Given the description of an element on the screen output the (x, y) to click on. 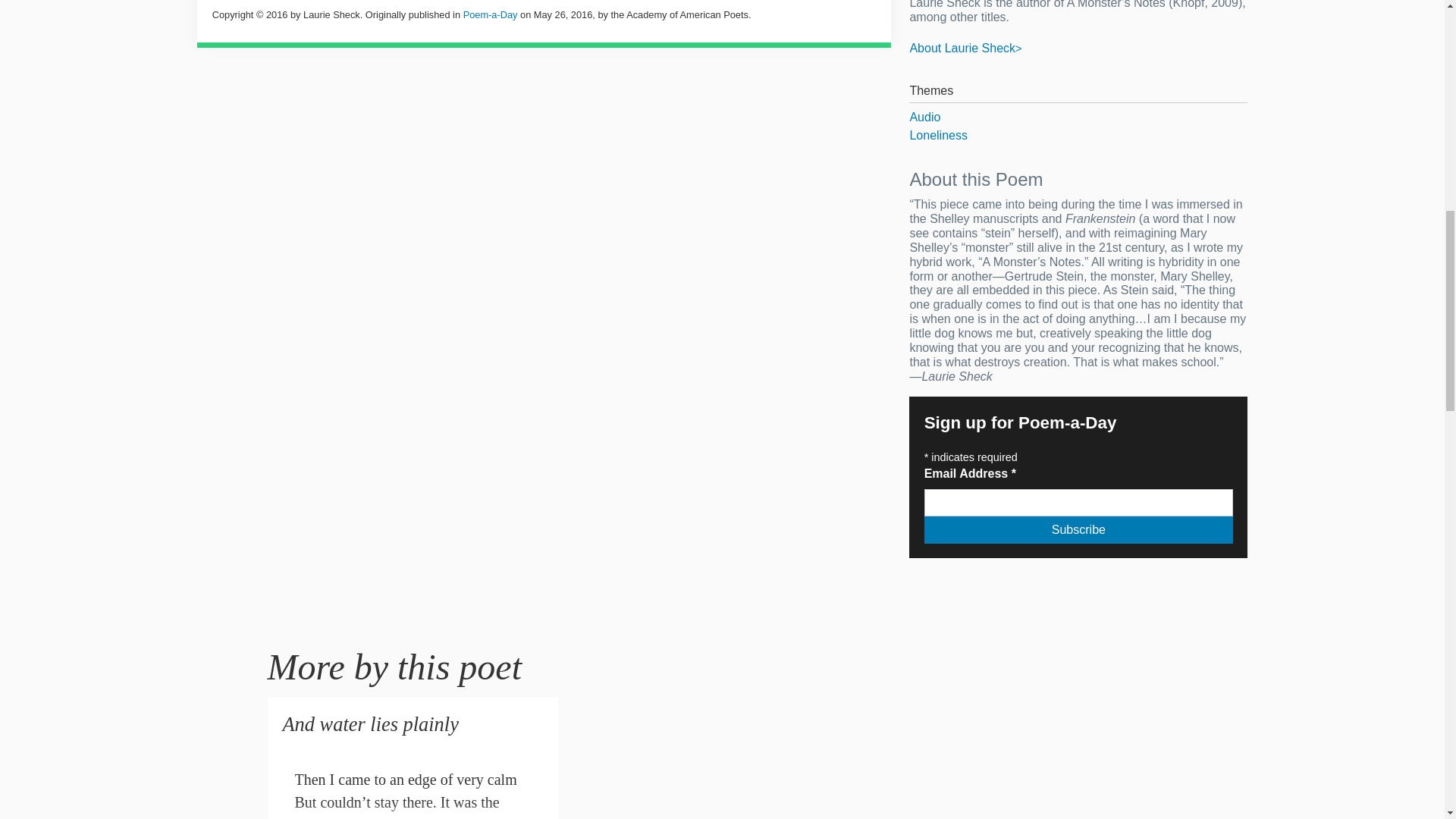
Audio (1077, 117)
About Laurie Sheck (965, 47)
Subscribe (1078, 529)
Loneliness (1077, 135)
Poem-a-Day (490, 14)
